Given the description of an element on the screen output the (x, y) to click on. 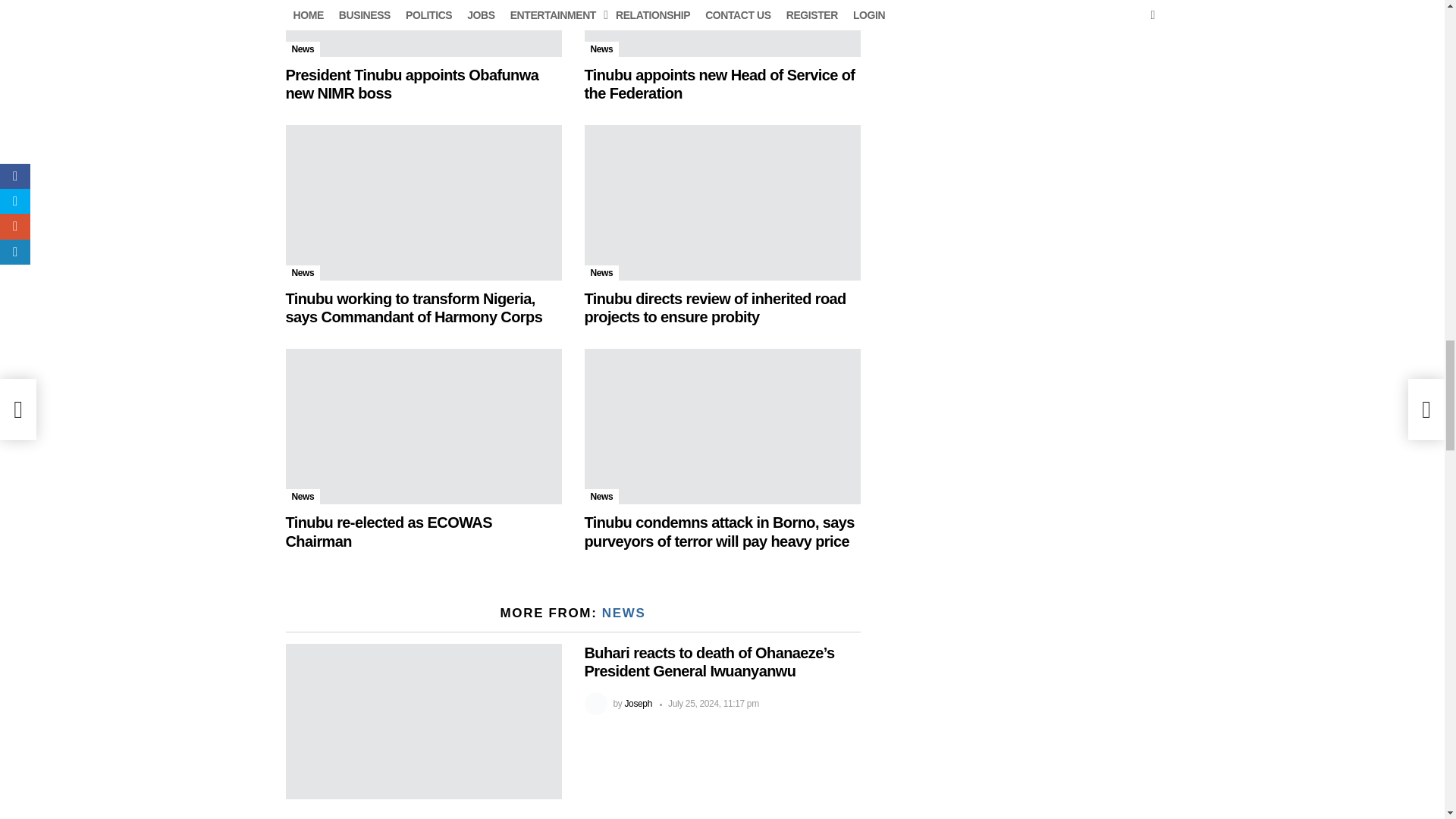
Posts by Joseph (638, 703)
President Tinubu appoints Obafunwa new NIMR boss (422, 28)
News (302, 48)
Tinubu re-elected as ECOWAS Chairman (422, 426)
Tinubu appoints new Head of Service of the Federation (721, 28)
President Tinubu appoints Obafunwa new NIMR boss (411, 83)
News (600, 48)
Tinubu appoints new Head of Service of the Federation (718, 83)
